Given the description of an element on the screen output the (x, y) to click on. 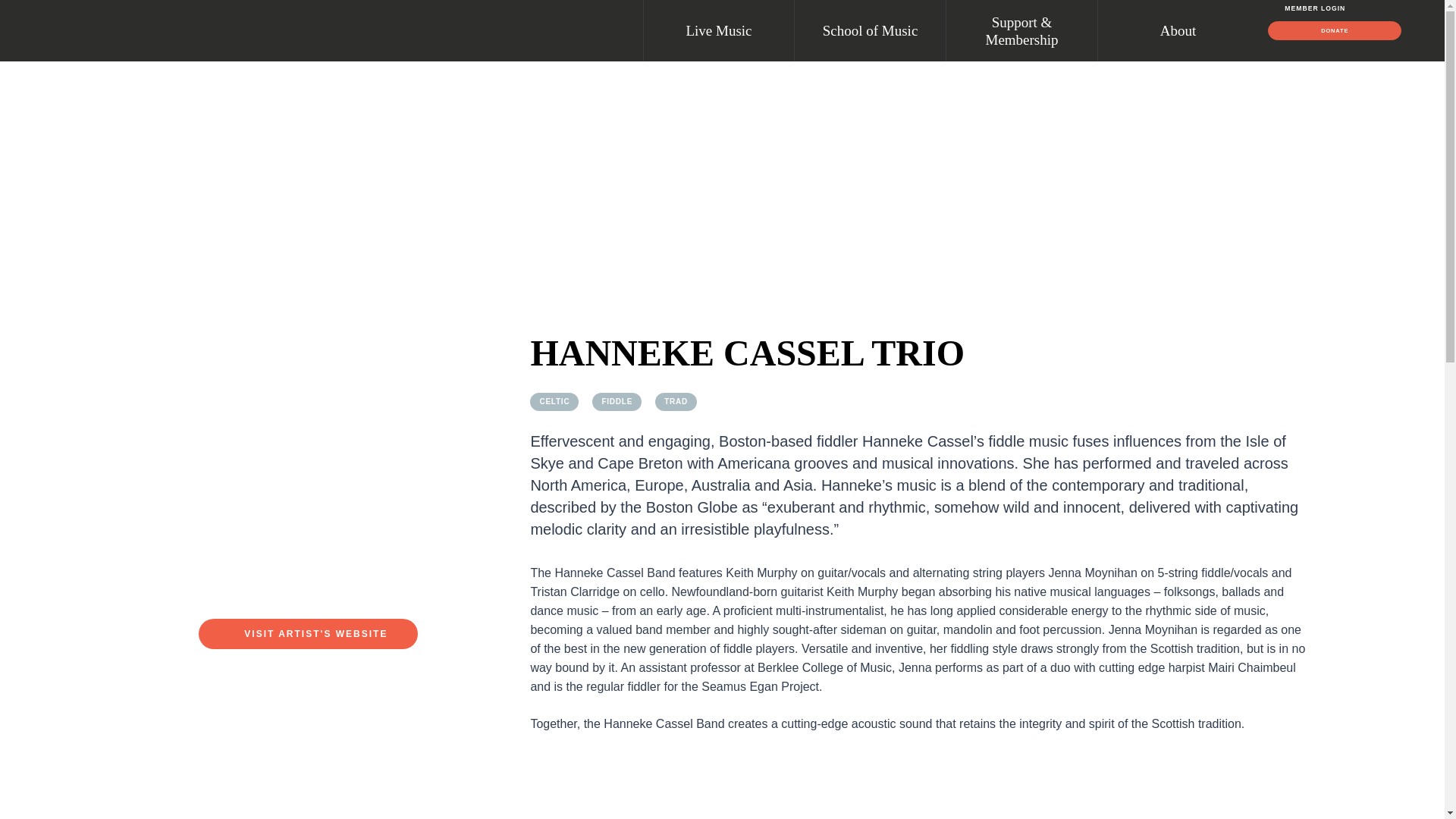
About (1173, 30)
Live Music (718, 30)
Passim (186, 30)
School of Music (869, 30)
